Given the description of an element on the screen output the (x, y) to click on. 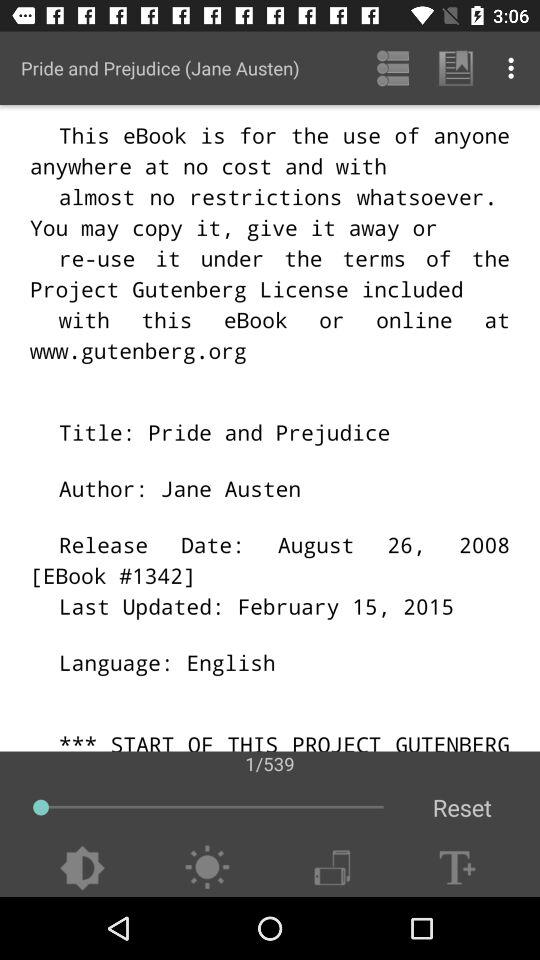
launch app at the top left corner (160, 67)
